Given the description of an element on the screen output the (x, y) to click on. 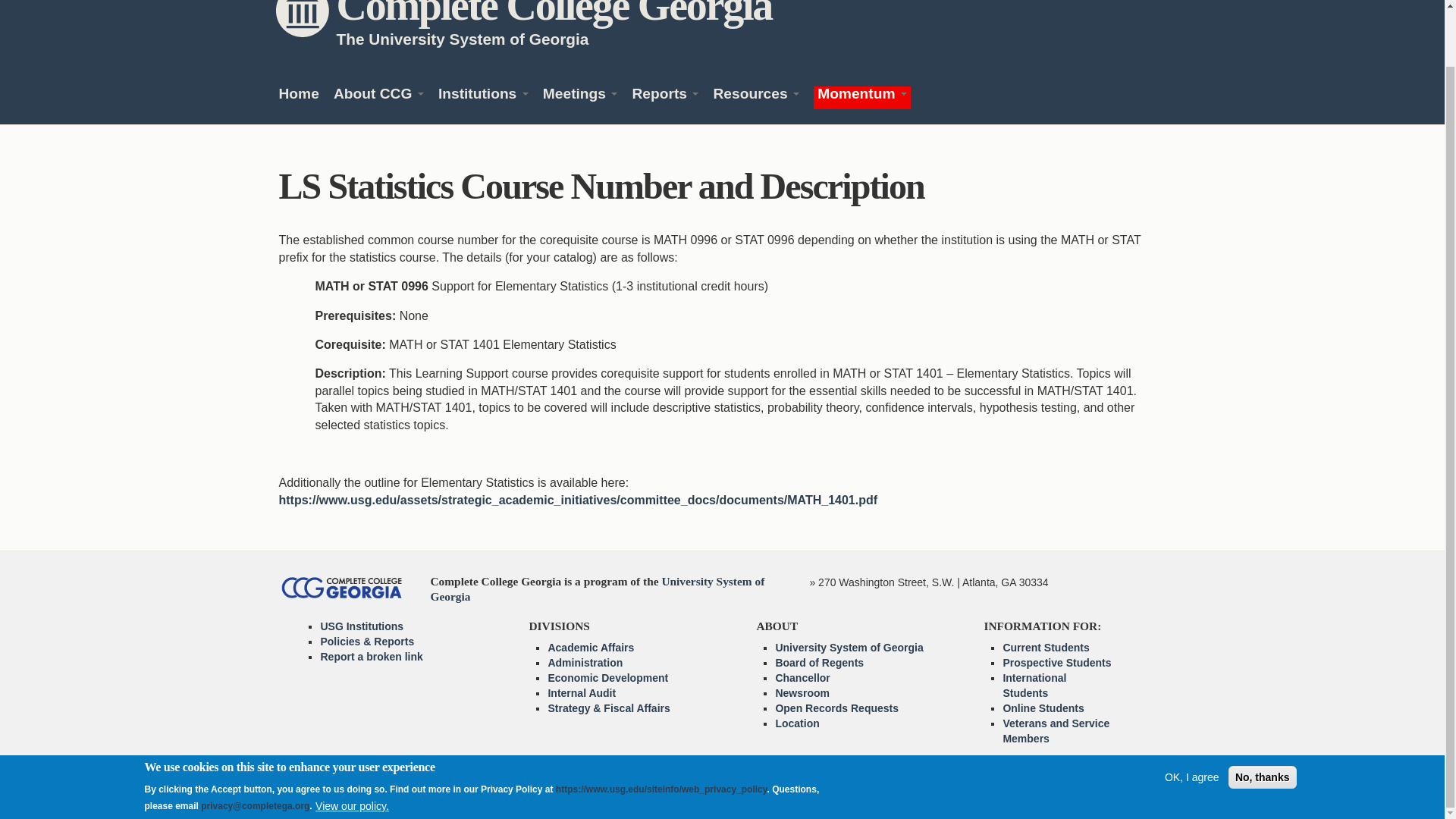
The University System of Georgia (462, 38)
Home (554, 14)
About CCG (378, 97)
Meetings (580, 97)
Home (298, 97)
Complete College Georgia (554, 14)
Institutions (483, 97)
